Given the description of an element on the screen output the (x, y) to click on. 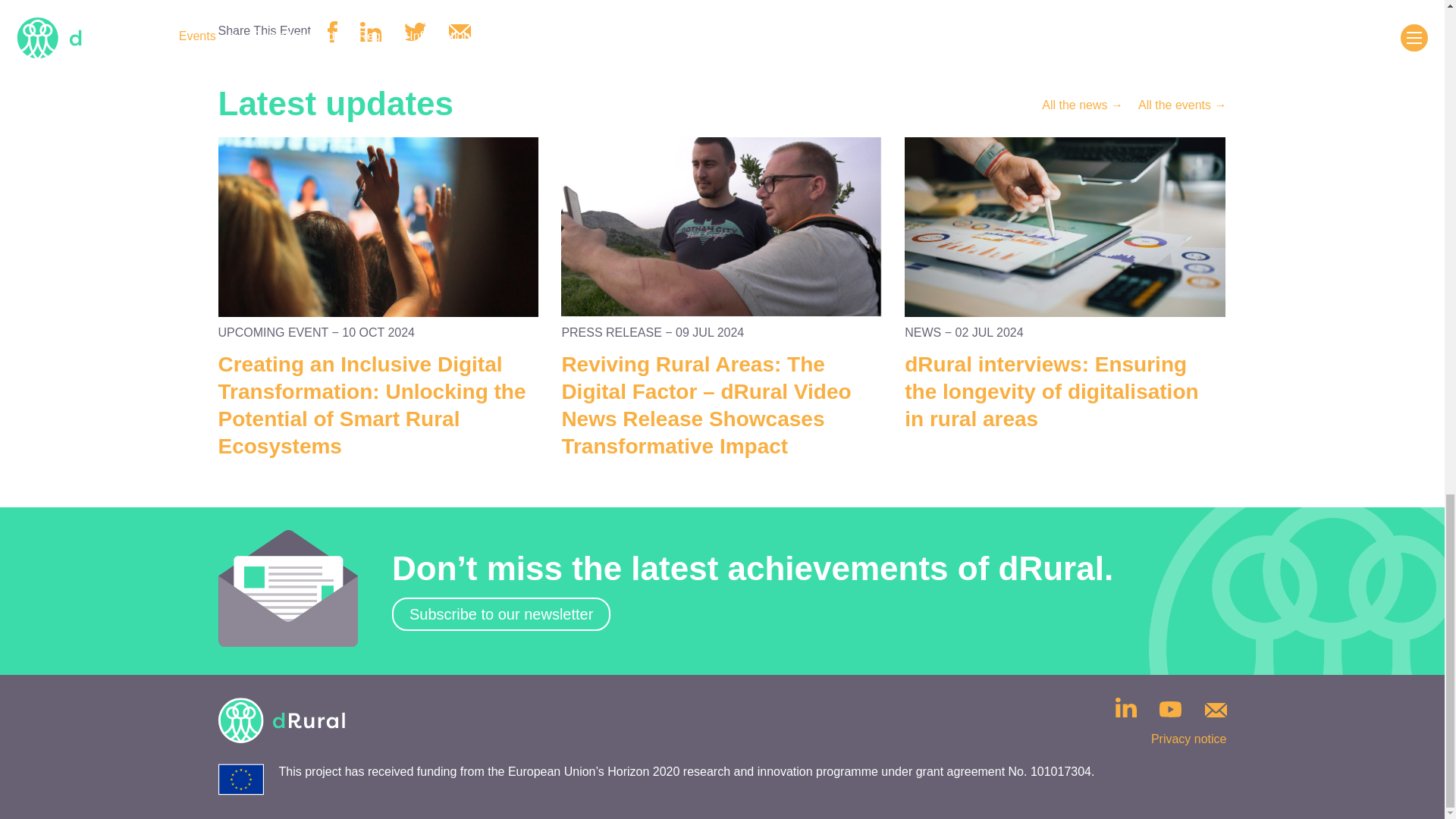
dRural (281, 722)
Twitter (415, 31)
LinkedIn (1126, 707)
YouTube (1169, 711)
YouTube (1169, 709)
LinkedIn (370, 31)
Privacy notice (1189, 739)
Subscribe to our newsletter (500, 613)
Events (1182, 105)
email (459, 31)
News (1082, 105)
email (459, 34)
Subscribe to our newsletter (500, 613)
dRural (281, 719)
Privacy notice (1189, 739)
